Given the description of an element on the screen output the (x, y) to click on. 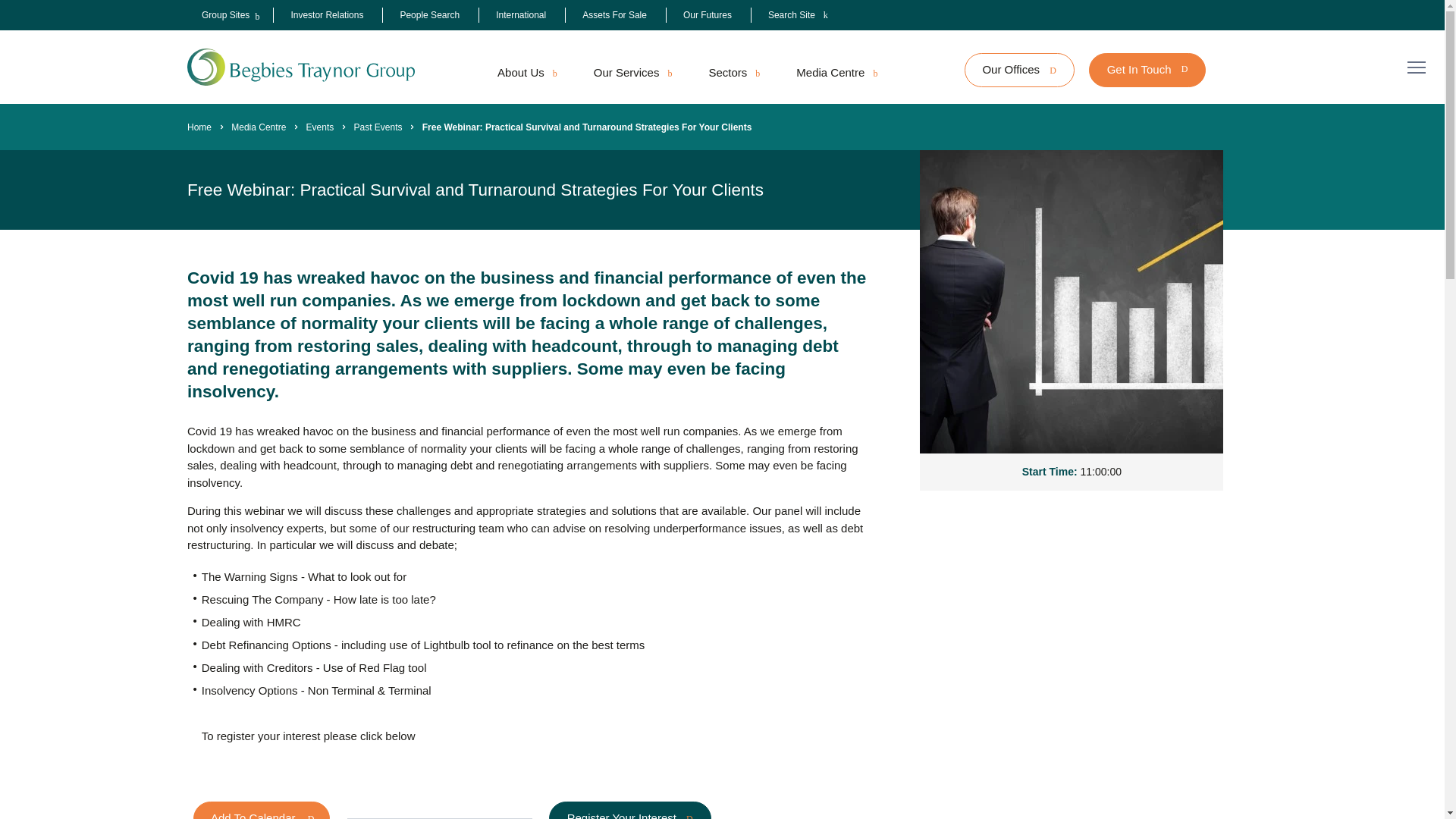
Assets For Sale (614, 15)
Group Sites (225, 15)
People Search (429, 15)
Go to Past Events (377, 127)
About Us (527, 73)
Search Site (798, 15)
Our Futures (707, 15)
Investor Relations (325, 15)
Go to Media Centre (258, 127)
Go to Events (319, 127)
